Given the description of an element on the screen output the (x, y) to click on. 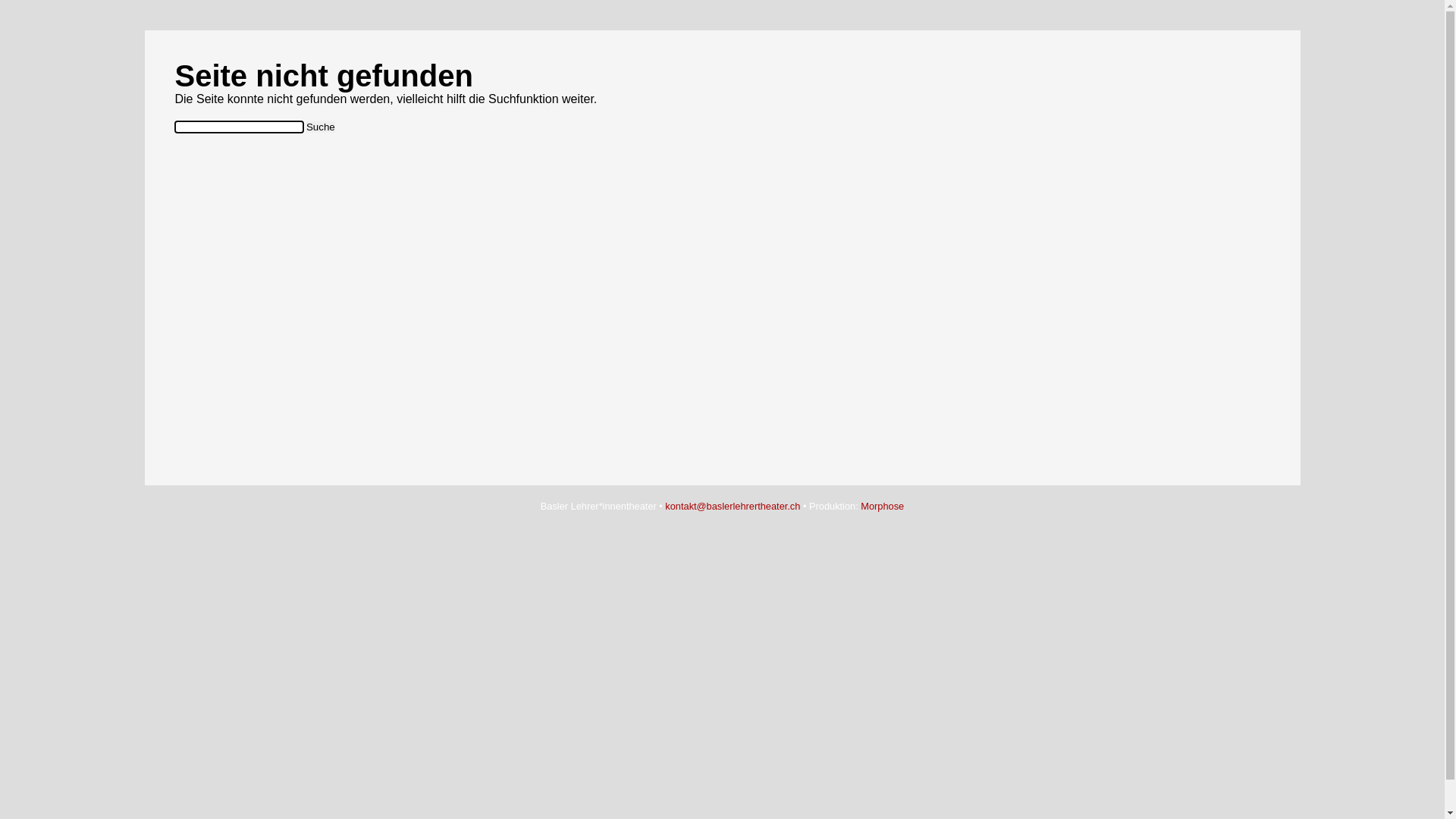
Morphose Element type: text (881, 505)
Suche Element type: text (320, 126)
kontakt@baslerlehrertheater.ch Element type: text (732, 505)
